Given the description of an element on the screen output the (x, y) to click on. 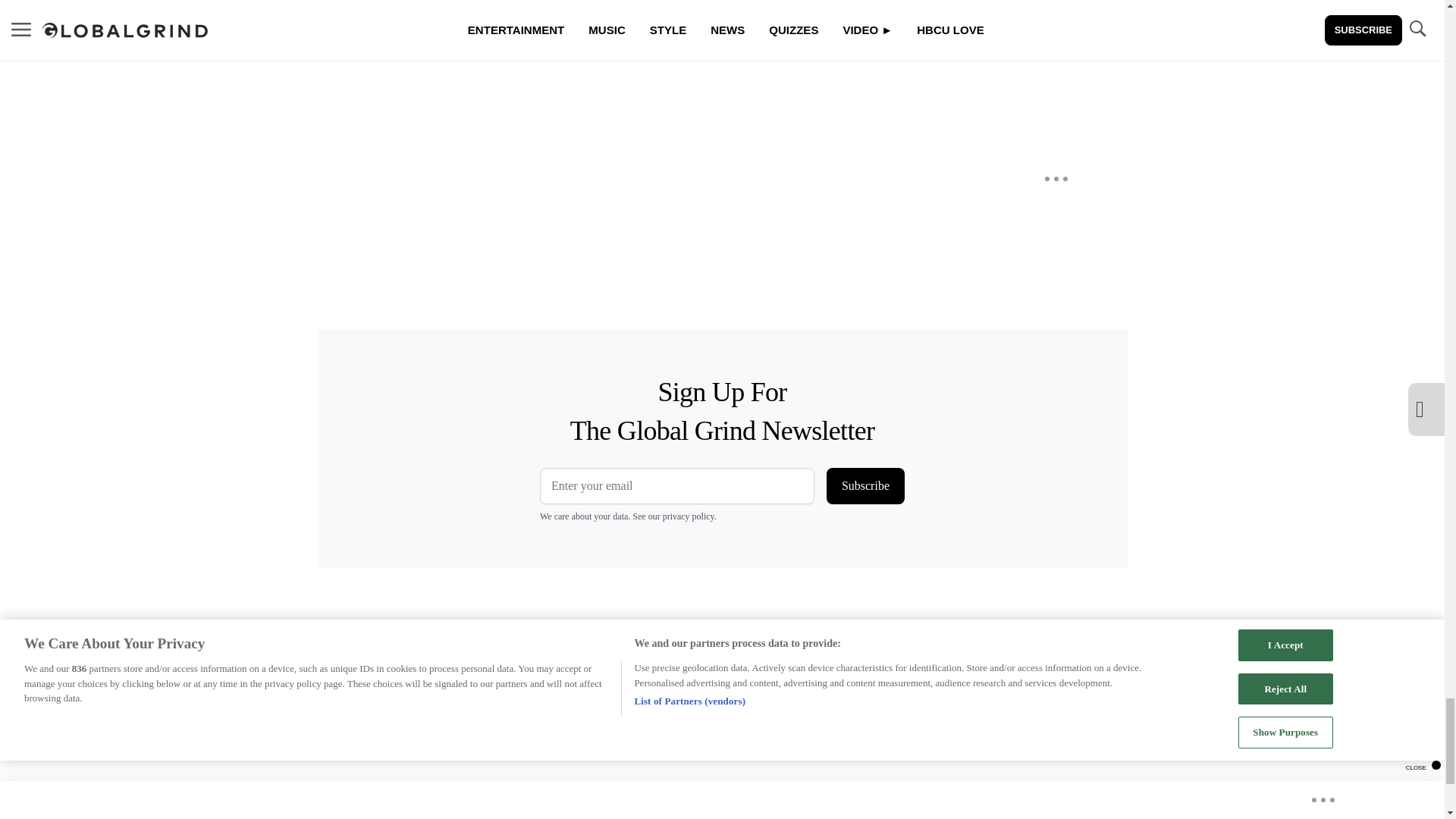
Vuukle Comments Widget (585, 71)
